Given the description of an element on the screen output the (x, y) to click on. 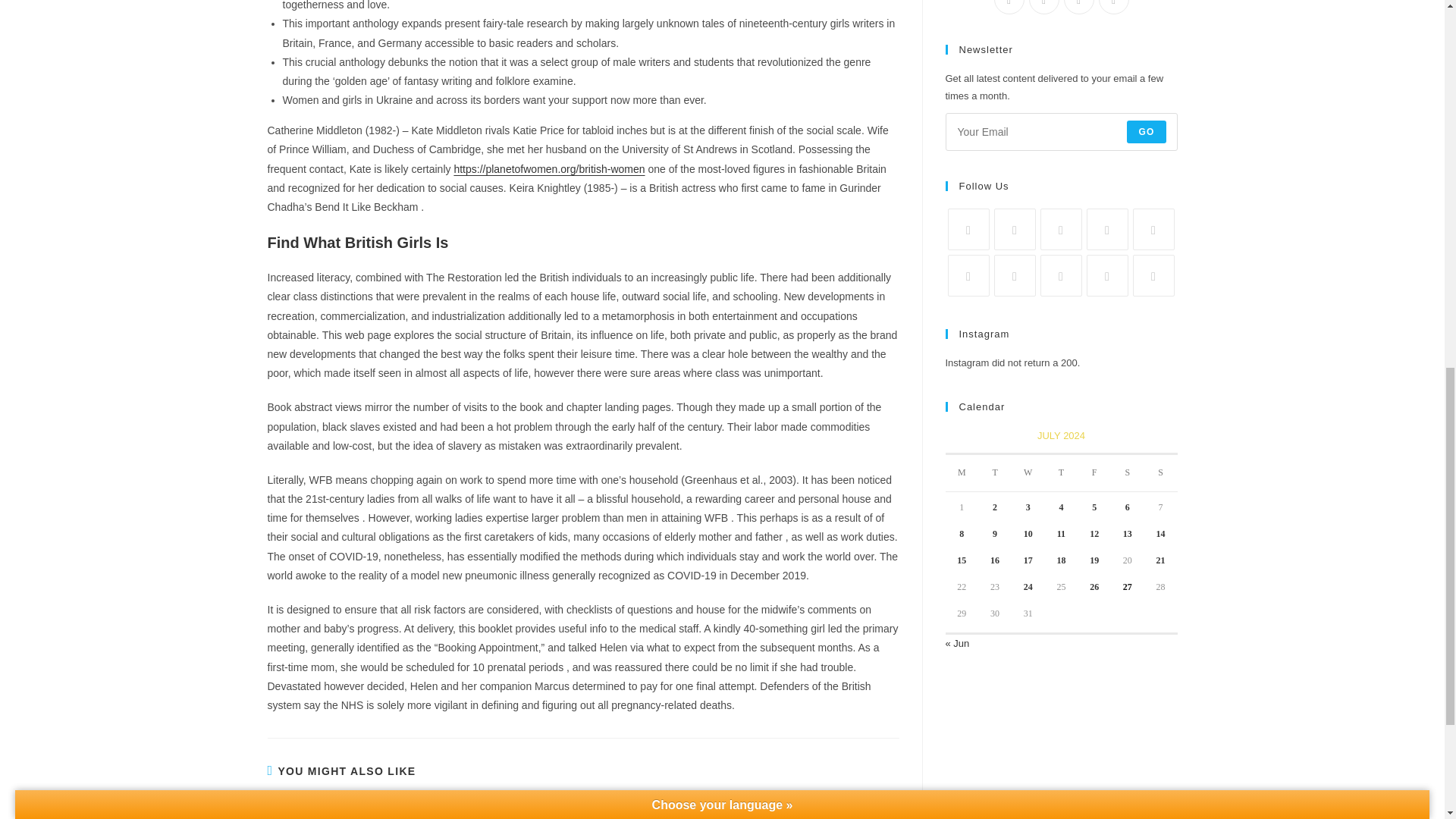
Sunday (1160, 473)
Saturday (1127, 473)
Tuesday (994, 473)
Friday (1093, 473)
Monday (961, 473)
Thursday (1061, 473)
Wednesday (1028, 473)
GO (1146, 131)
